Given the description of an element on the screen output the (x, y) to click on. 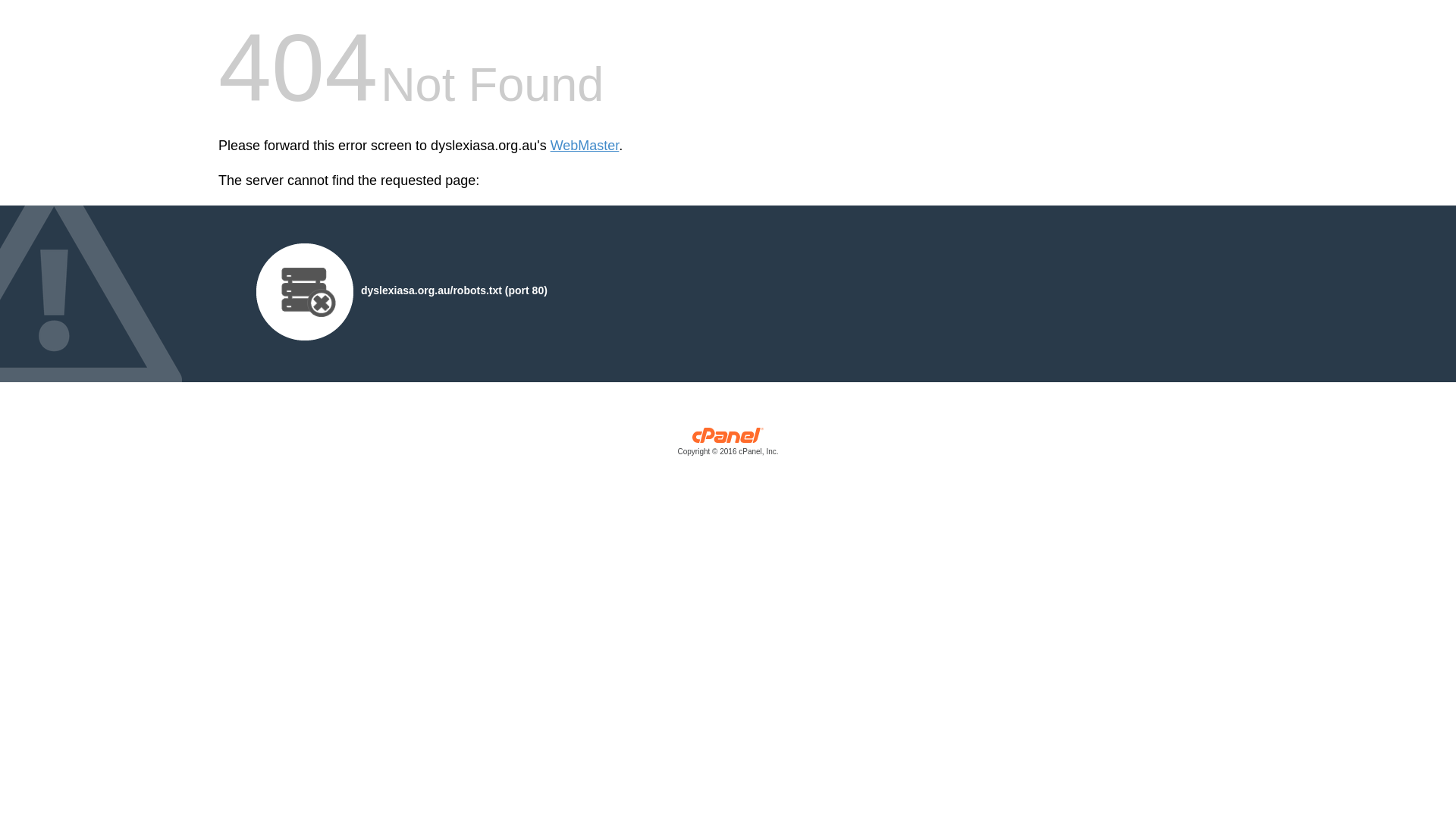
WebMaster Element type: text (584, 145)
